Given the description of an element on the screen output the (x, y) to click on. 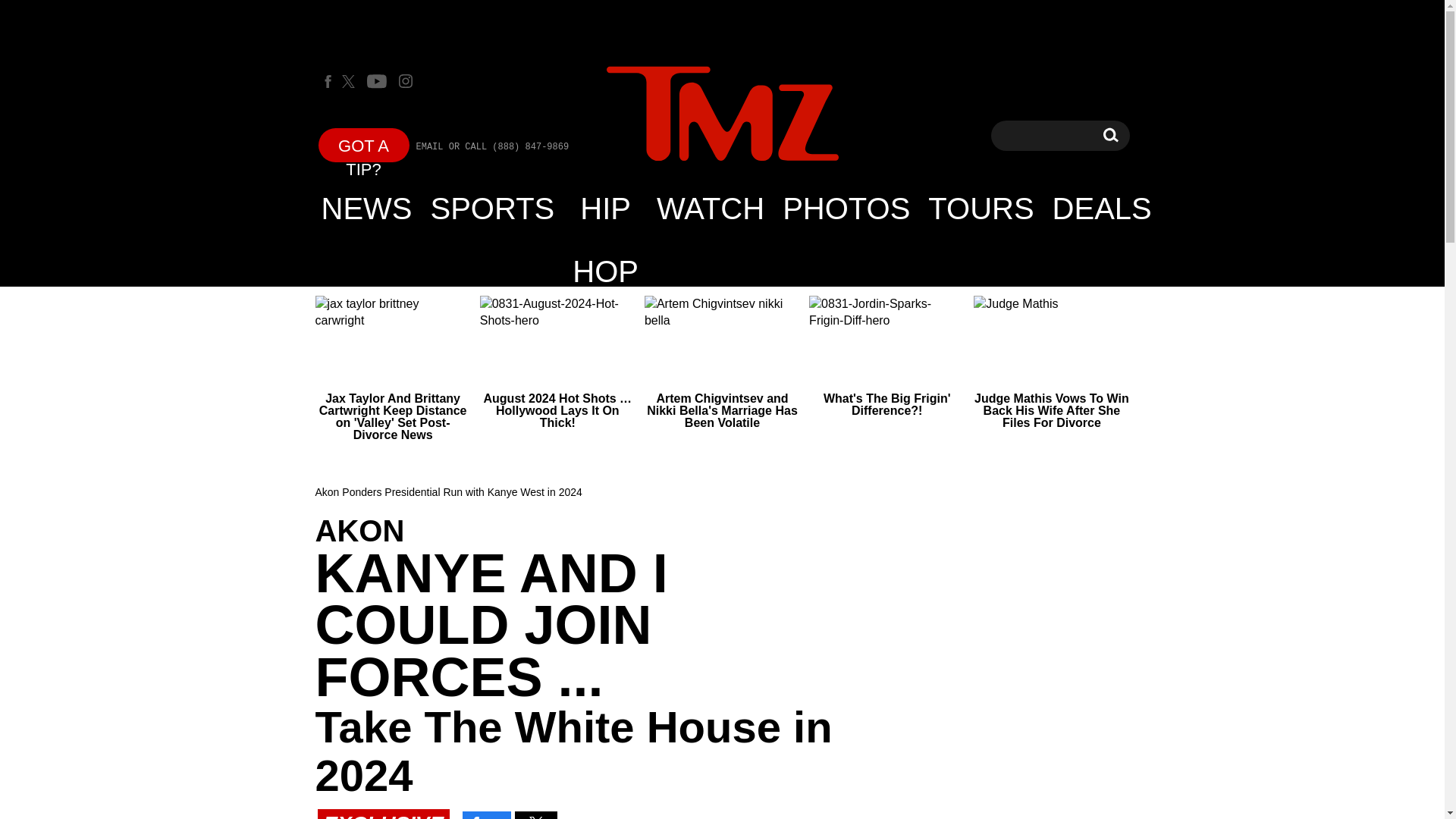
TMZ (722, 113)
SPORTS (493, 207)
TOURS (980, 207)
DEALS (1101, 207)
Search (1110, 134)
GOT A TIP? (363, 144)
TMZ (722, 115)
WATCH (710, 207)
NEWS (367, 207)
